Given the description of an element on the screen output the (x, y) to click on. 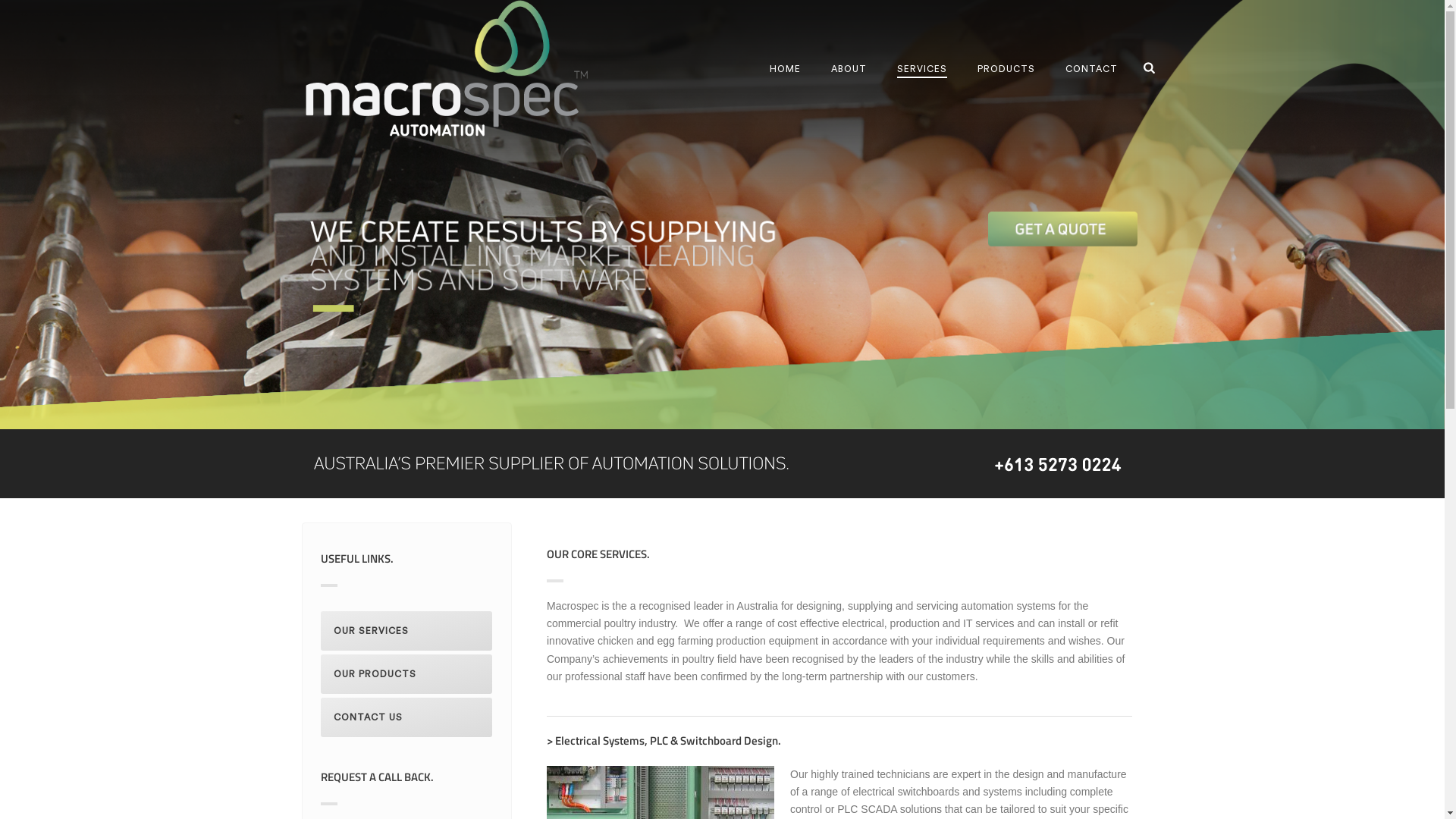
OUR PRODUCTS Element type: text (406, 673)
ABOUT Element type: text (848, 68)
PRODUCTS Element type: text (1006, 68)
telephone Element type: hover (1059, 463)
Agricultural, Industrial, and Food Processing Automation Element type: hover (445, 67)
OUR SERVICES Element type: text (406, 630)
HOME Element type: text (784, 68)
SERVICES Element type: text (921, 68)
head Element type: hover (551, 463)
CONTACT Element type: text (1091, 68)
CONTACT US Element type: text (406, 717)
